Given the description of an element on the screen output the (x, y) to click on. 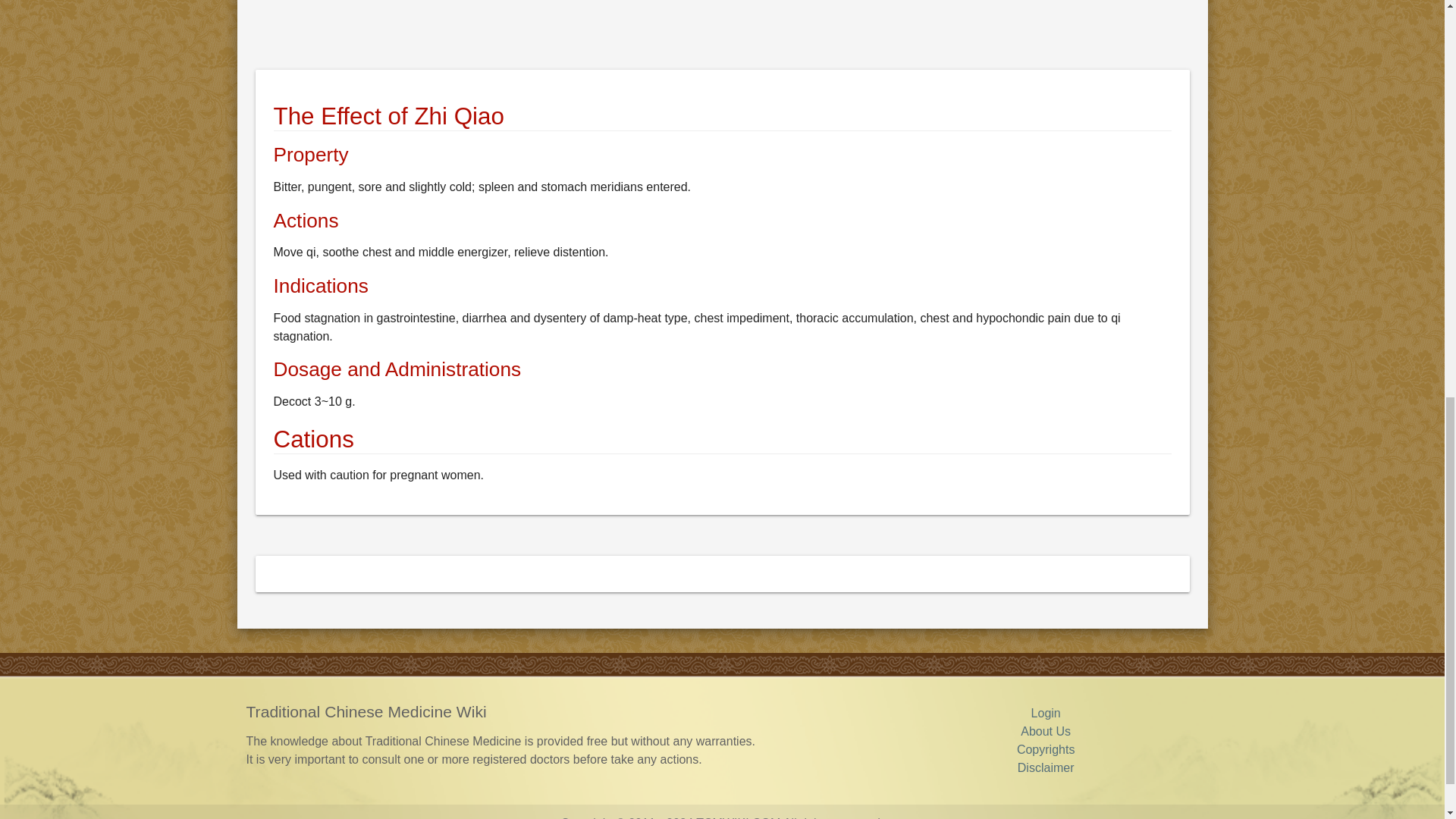
Advertisement (709, 31)
About Us (1045, 730)
Copyrights (1045, 748)
Disclaimer (1045, 767)
Login (1045, 712)
